Given the description of an element on the screen output the (x, y) to click on. 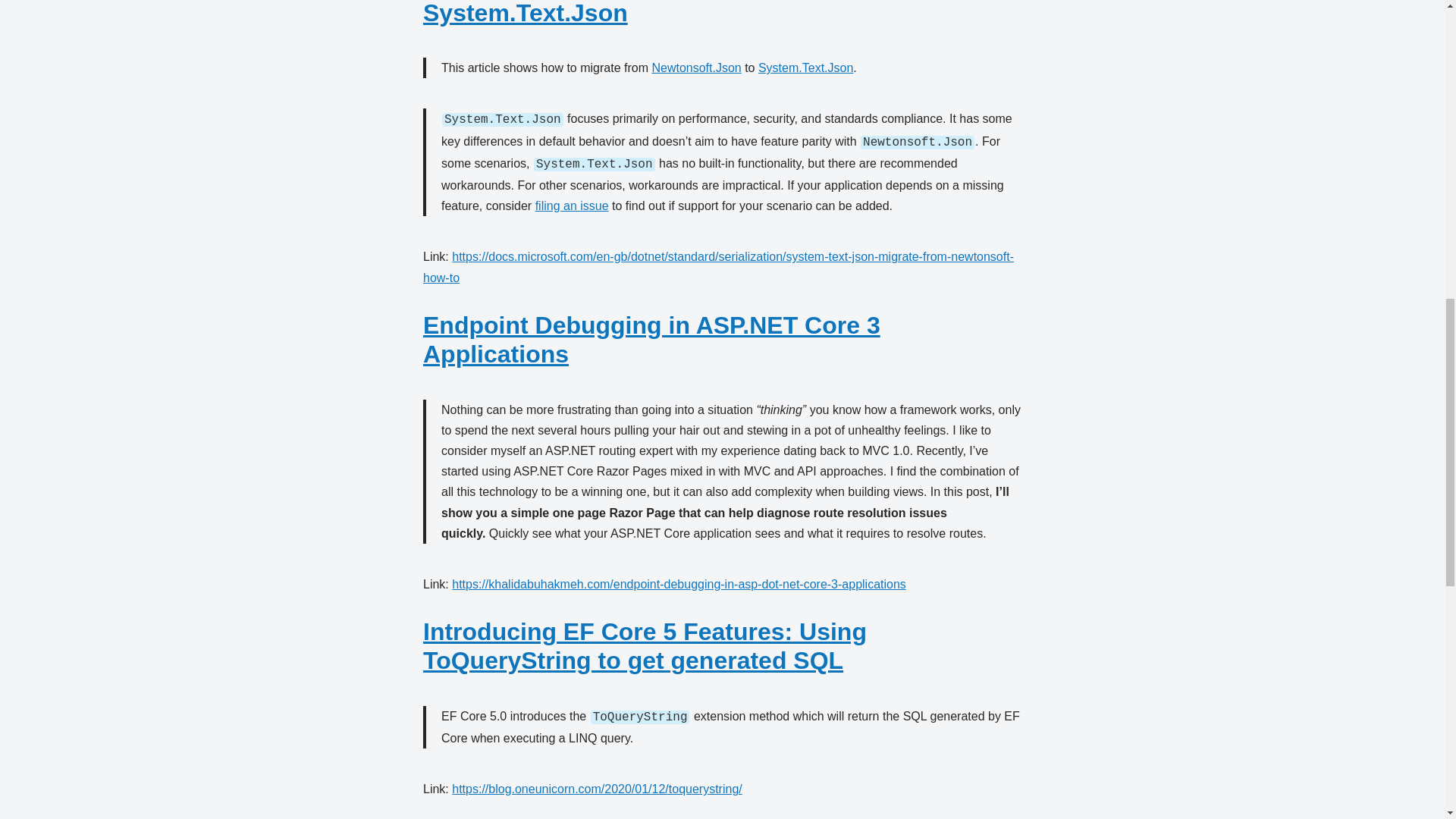
How to migrate from Newtonsoft.Json to System.Text.Json (657, 13)
Endpoint Debugging in ASP.NET Core 3 Applications (651, 339)
Newtonsoft.Json (695, 67)
System.Text.Json (805, 67)
filing an issue (571, 205)
